Given the description of an element on the screen output the (x, y) to click on. 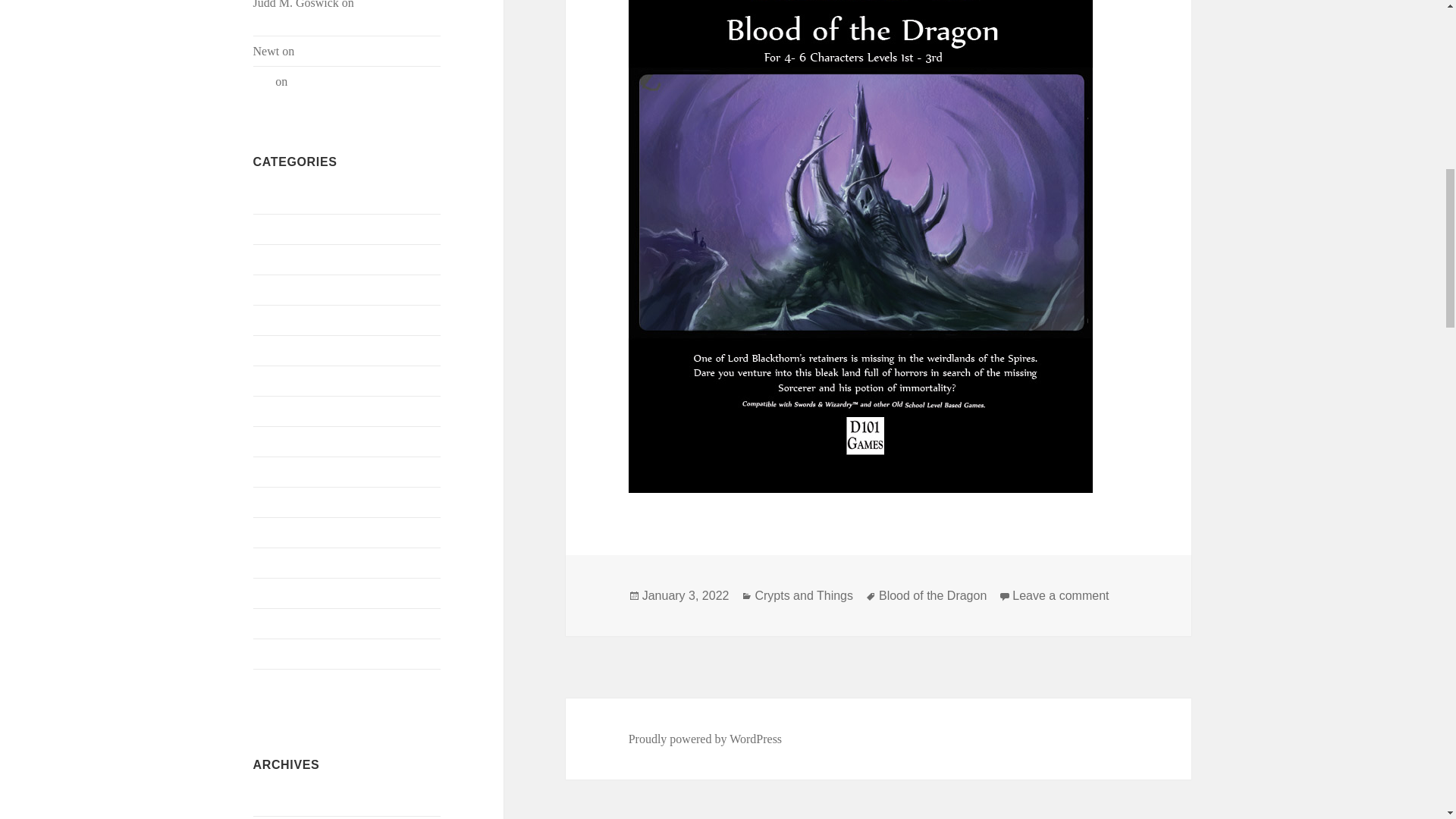
State of D101 Games 2012 (355, 81)
The excitement has returned! (342, 13)
Monkey (273, 410)
Conventions (283, 197)
HeroQuest Gateway (302, 349)
General (272, 318)
Fate (264, 288)
HeroQuest Glorantha (304, 379)
Crypts and Things (297, 228)
Publishing advice (296, 501)
